Given the description of an element on the screen output the (x, y) to click on. 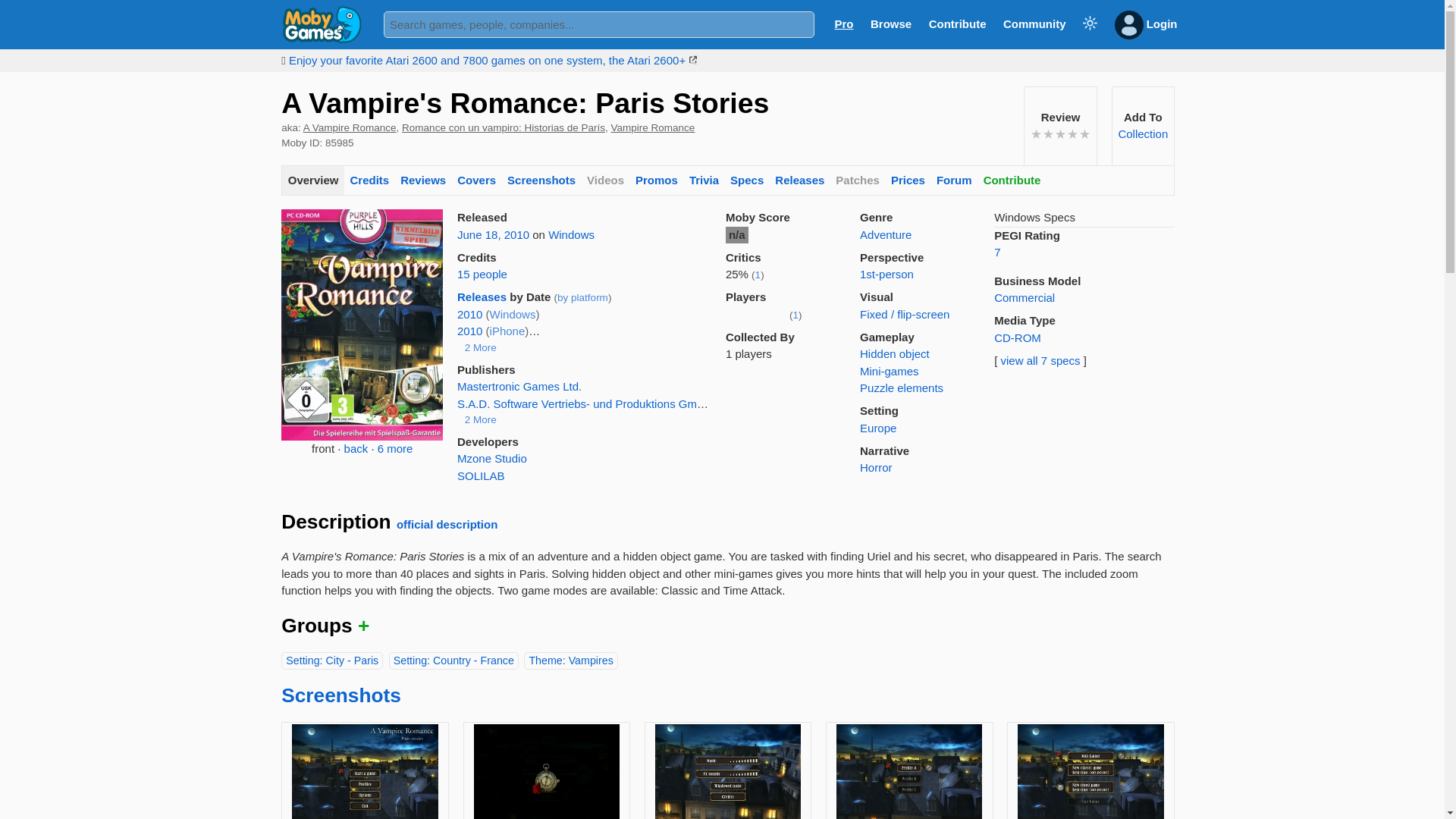
Pro (843, 23)
Overview (312, 180)
Collection (1142, 133)
Reviews (422, 180)
Covers (476, 180)
Videos (605, 180)
Screenshots (541, 180)
Credits (368, 180)
